Given the description of an element on the screen output the (x, y) to click on. 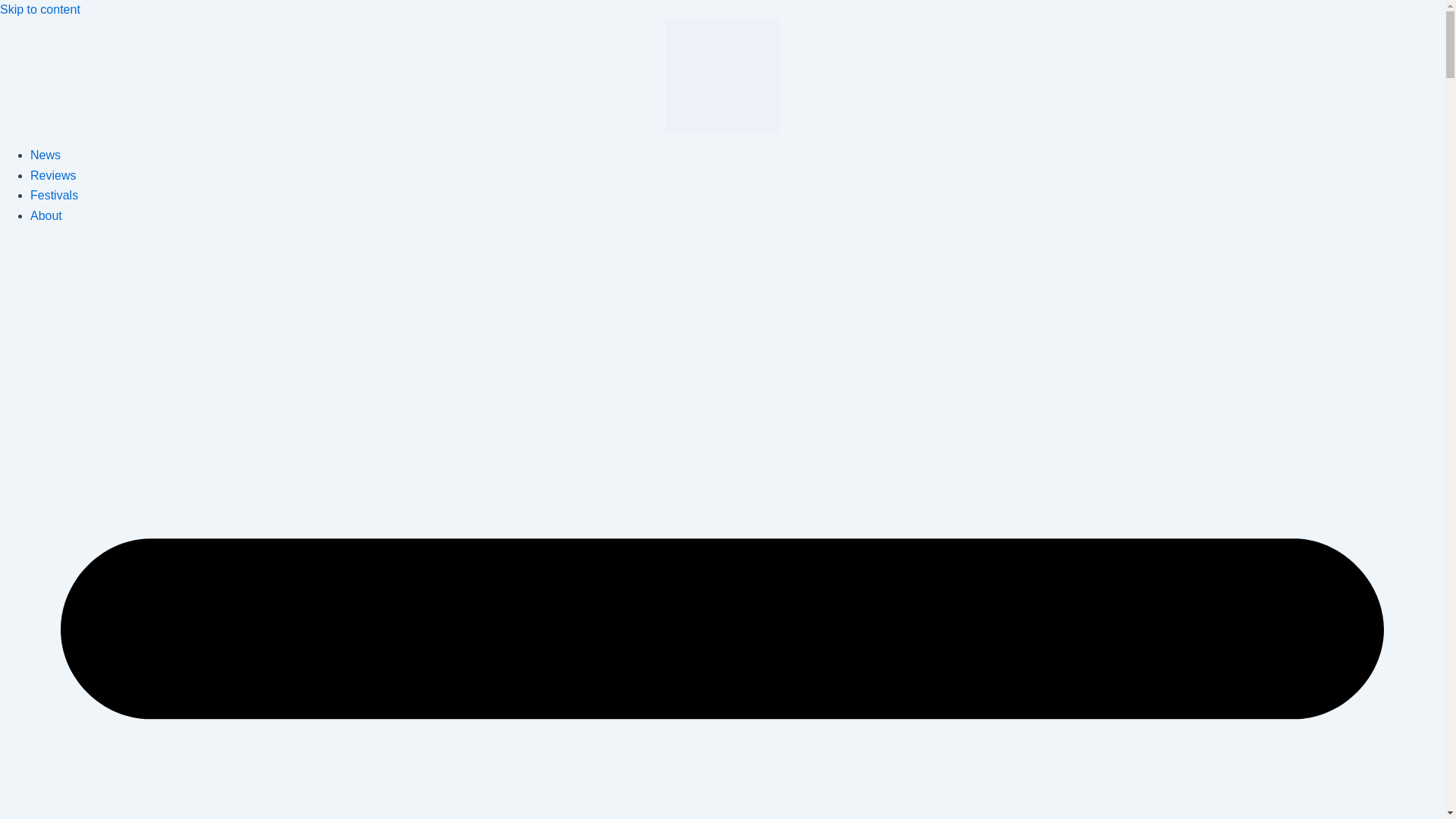
Skip to content (40, 9)
Skip to content (40, 9)
News (45, 154)
Festivals (54, 195)
Reviews (52, 174)
About (46, 215)
